Given the description of an element on the screen output the (x, y) to click on. 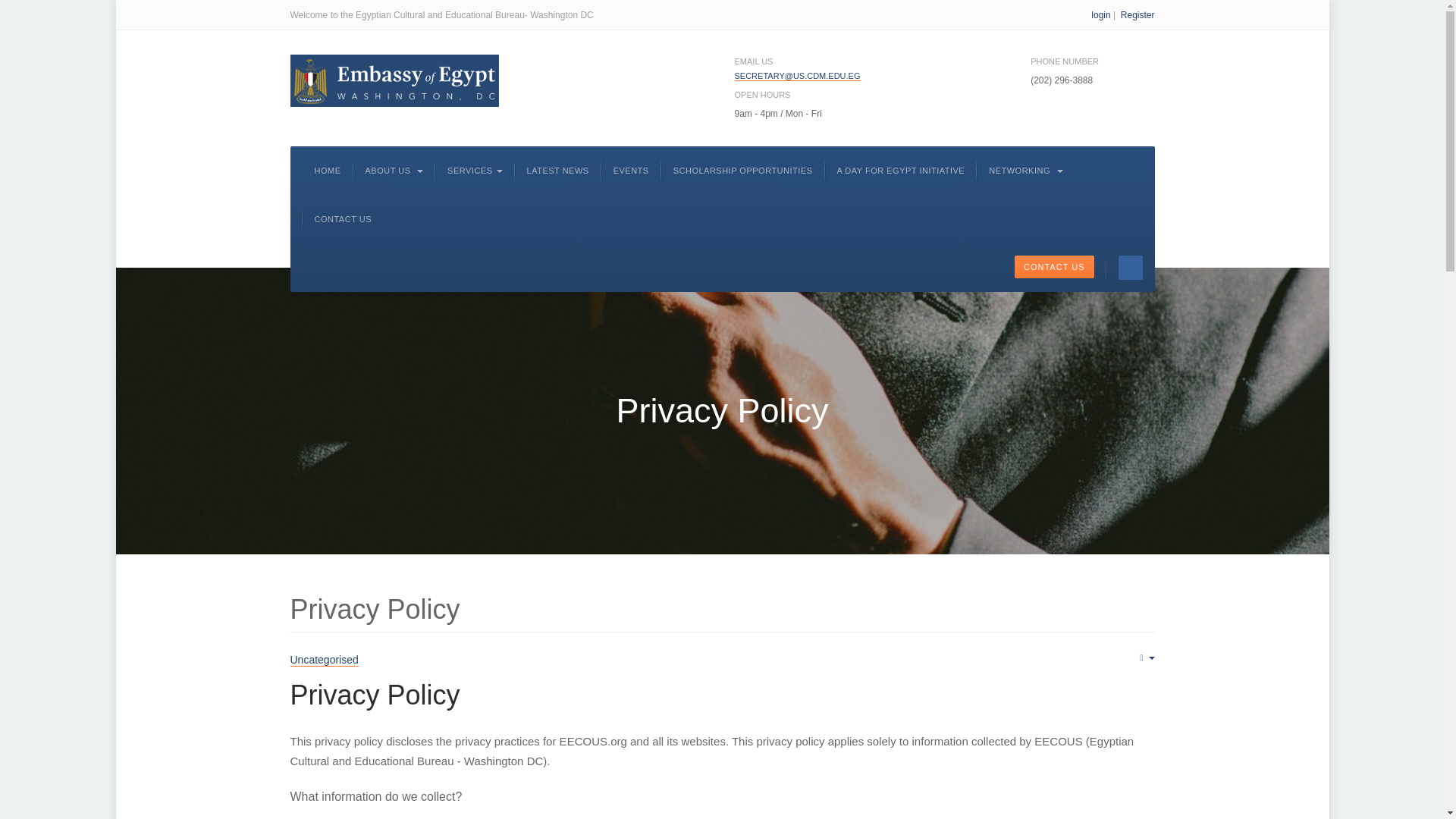
Privacy Policy (374, 694)
A DAY FOR EGYPT INITIATIVE (901, 170)
SCHOLARSHIP OPPORTUNITIES (742, 170)
login (1099, 14)
ABOUT US (394, 170)
Embassy of Egypt (393, 80)
EVENTS (630, 170)
NETWORKING (1025, 170)
Register (1137, 14)
Category:  (323, 659)
HOME (327, 170)
LATEST NEWS (558, 170)
